Given the description of an element on the screen output the (x, y) to click on. 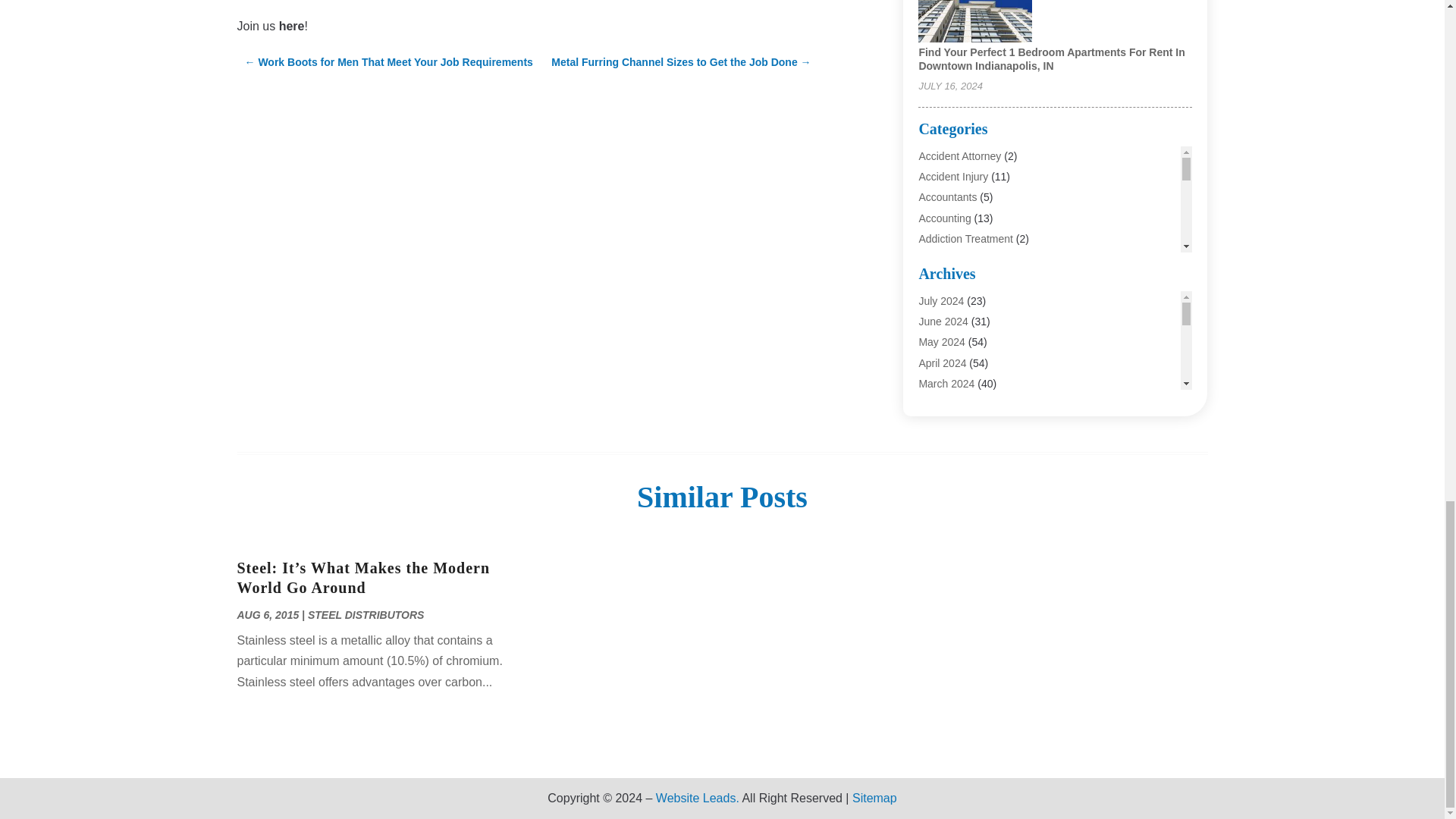
Accident Injury (953, 176)
Accountants (947, 196)
Addiction Treatment Support (985, 279)
Adventure And Sports (970, 320)
Accounting (944, 218)
Addiction Treatment Center (982, 259)
Adoption (938, 300)
Addiction Treatment (965, 238)
Accident Attorney (959, 155)
